Given the description of an element on the screen output the (x, y) to click on. 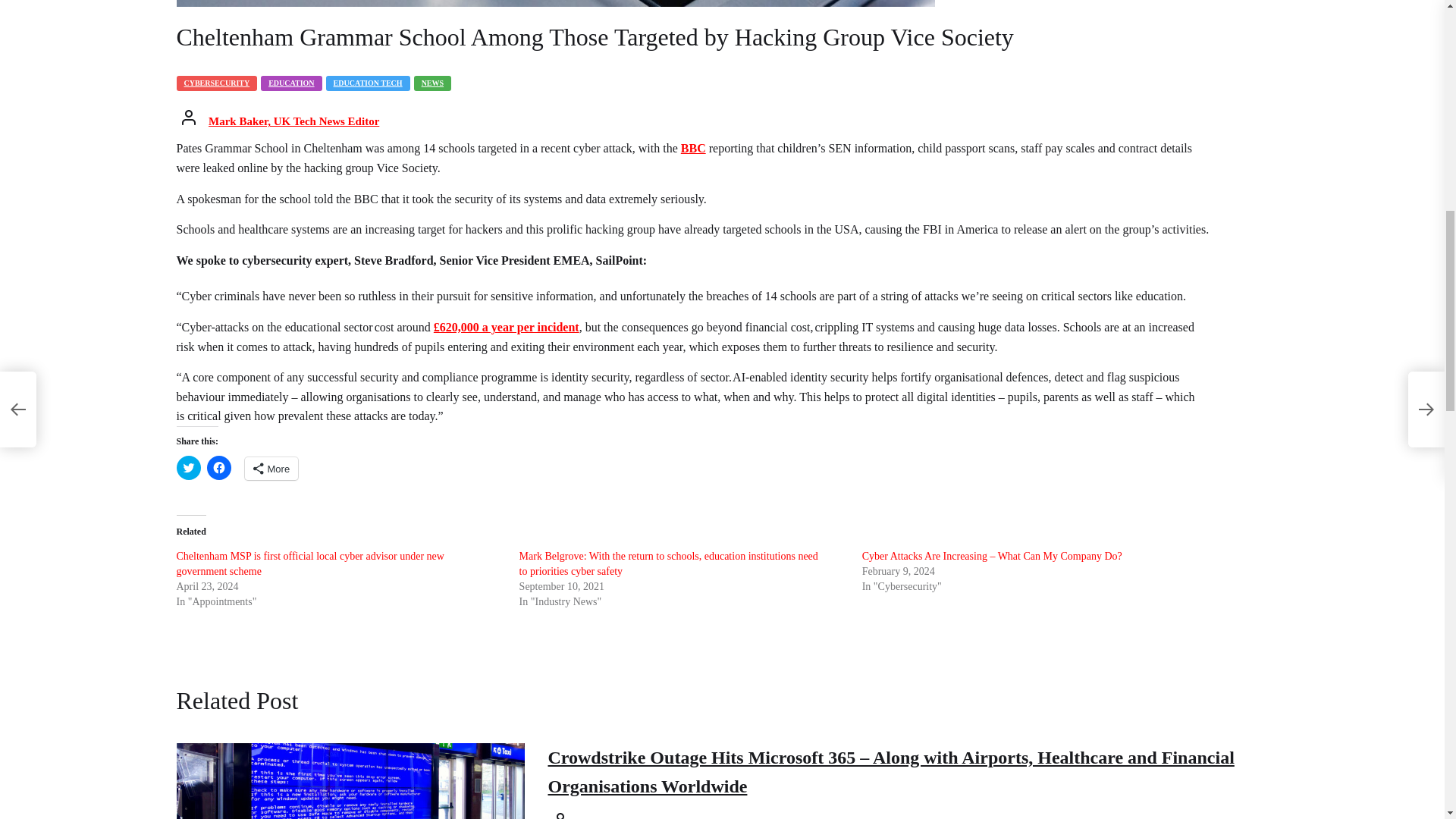
Click to share on Facebook (218, 467)
Click to share on Twitter (188, 467)
